Given the description of an element on the screen output the (x, y) to click on. 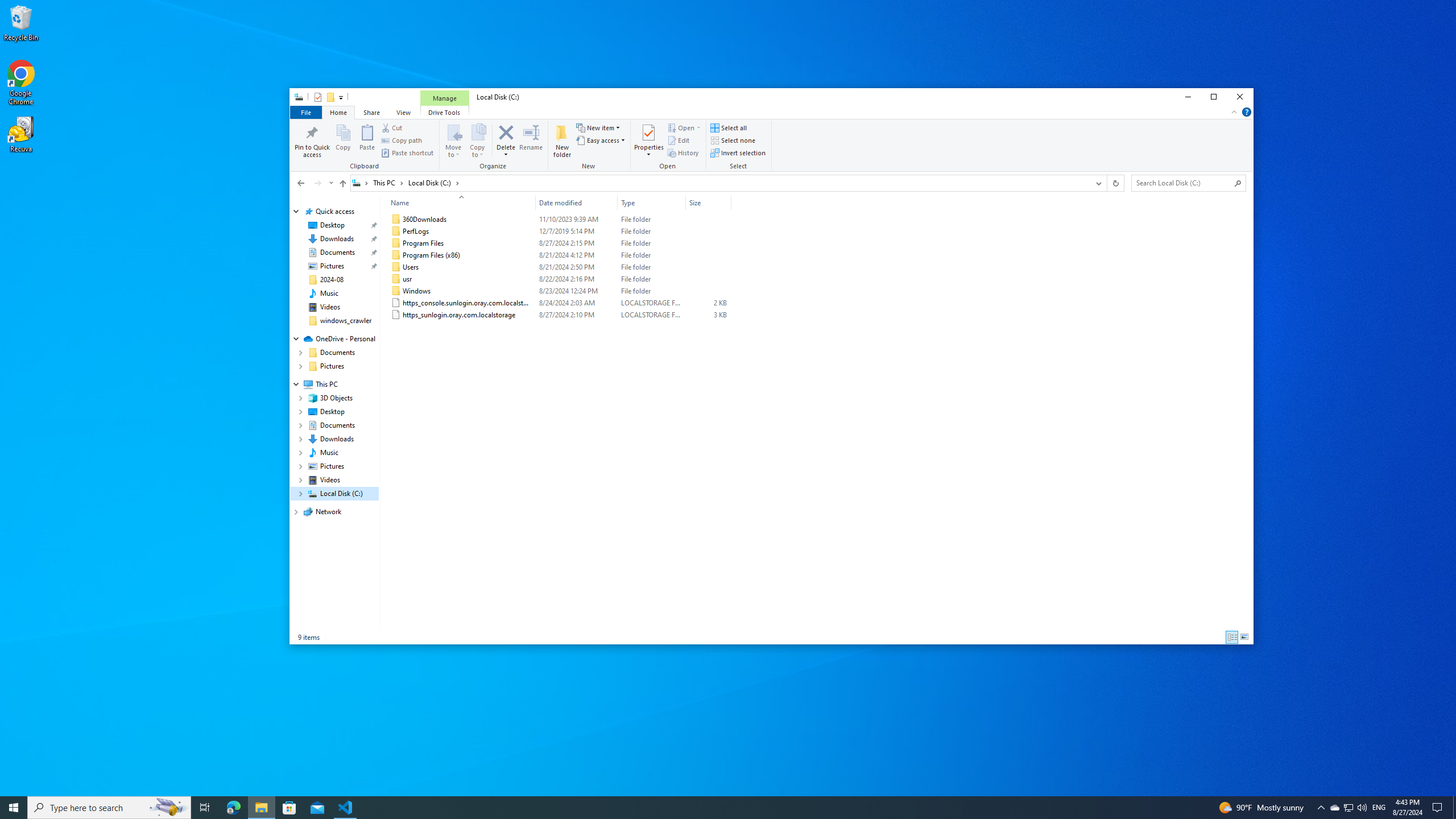
Running applications (706, 807)
This PC (388, 182)
Action Center, No new notifications (1439, 807)
Pin to Quick access (312, 140)
Q2790: 100% (1361, 807)
Edit (678, 140)
Visual Studio Code - 1 running window (345, 807)
Users (558, 267)
Type here to search (108, 807)
Large Icons (1243, 636)
Paste shortcut (407, 152)
360Downloads (558, 219)
Date modified (576, 202)
Recent locations (330, 182)
Program Files (x86) (558, 254)
